Given the description of an element on the screen output the (x, y) to click on. 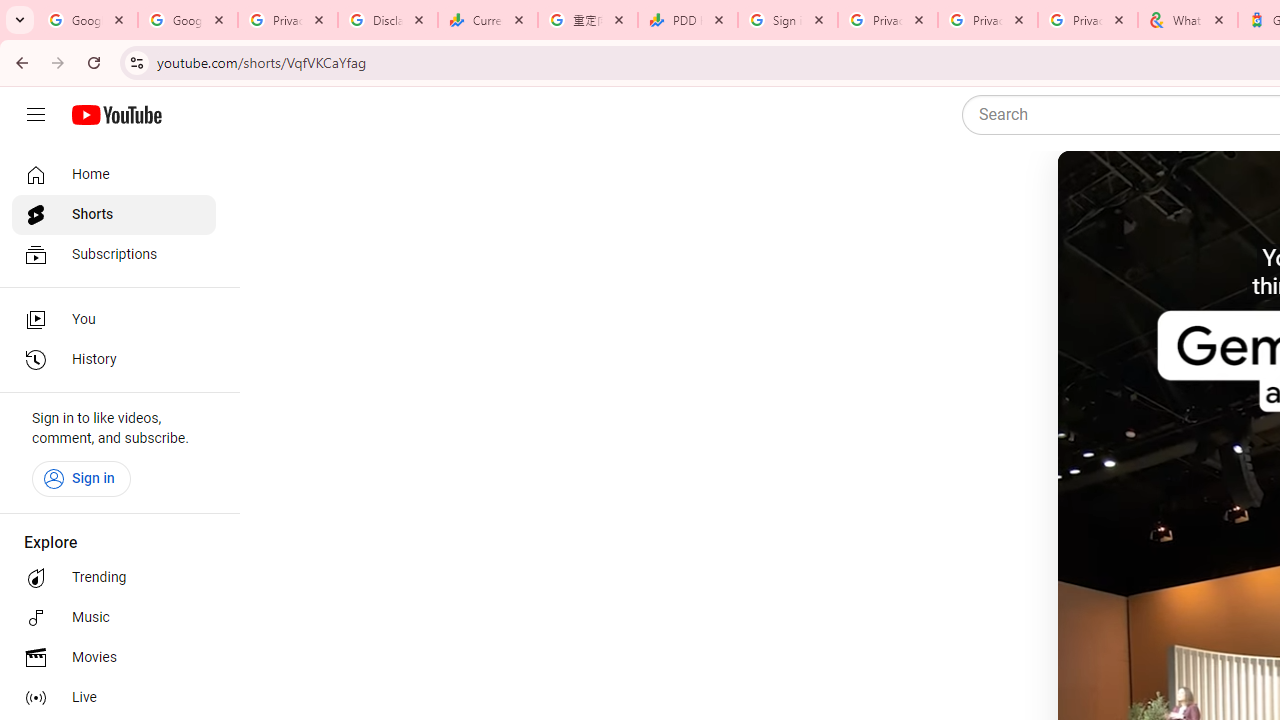
Mute (1161, 191)
Shorts (113, 214)
Movies (113, 657)
Subscriptions (113, 254)
Sign in - Google Accounts (788, 20)
Privacy Checkup (1087, 20)
Live (113, 697)
PDD Holdings Inc - ADR (PDD) Price & News - Google Finance (687, 20)
